Given the description of an element on the screen output the (x, y) to click on. 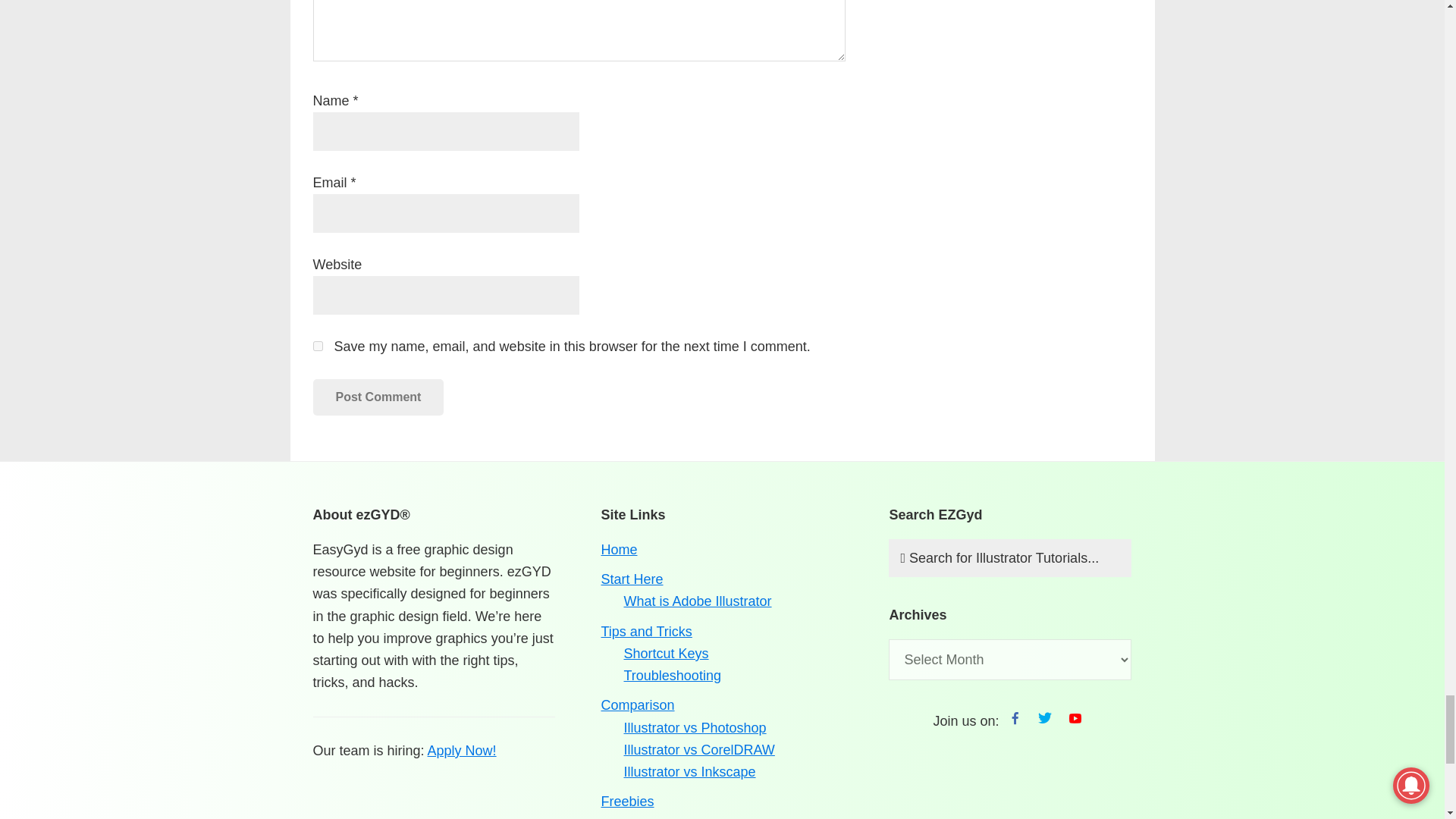
yes (317, 346)
Post Comment (378, 397)
Apply Now to Join EZGyd (462, 750)
